Given the description of an element on the screen output the (x, y) to click on. 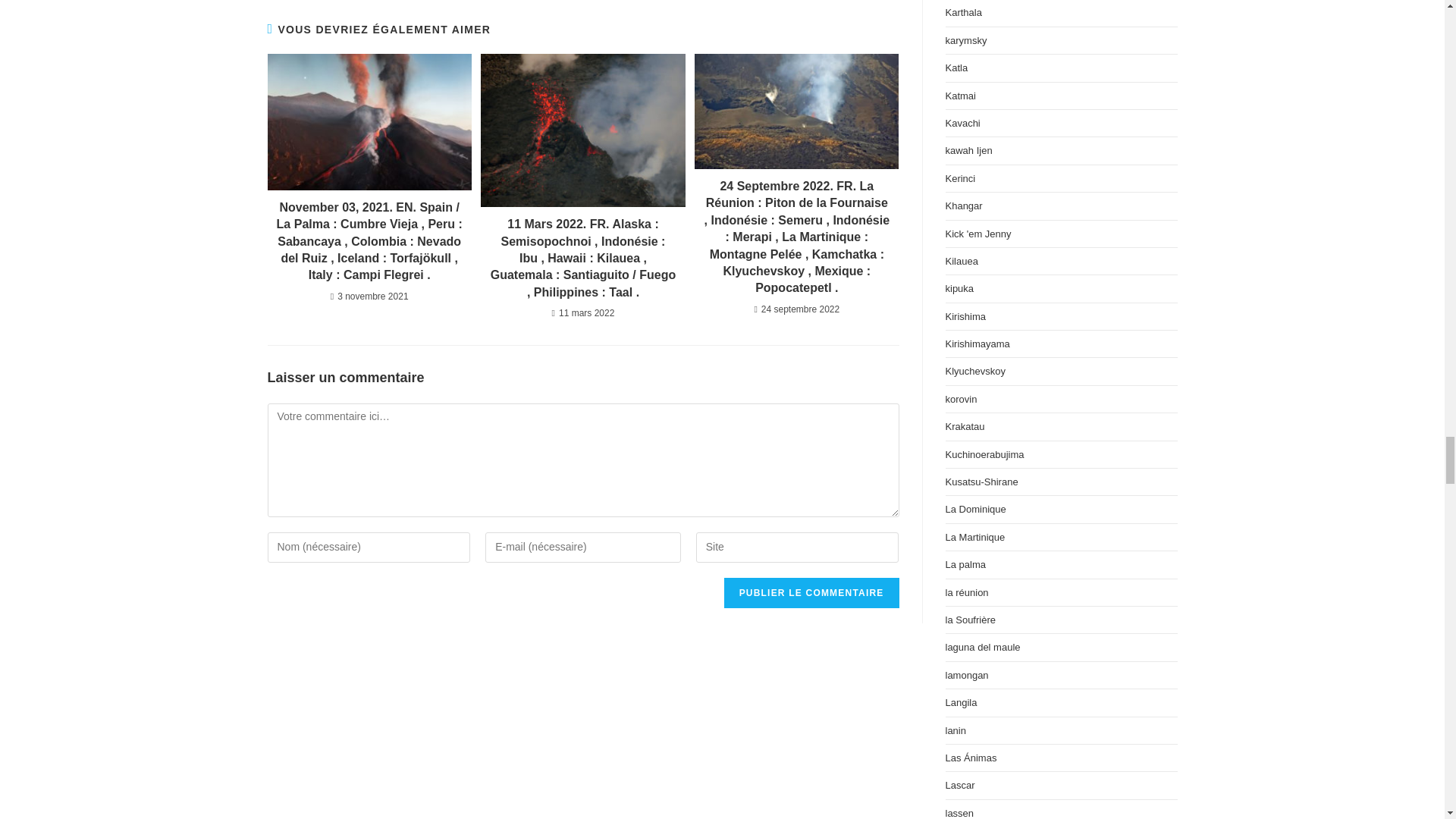
Publier le commentaire (811, 593)
